Given the description of an element on the screen output the (x, y) to click on. 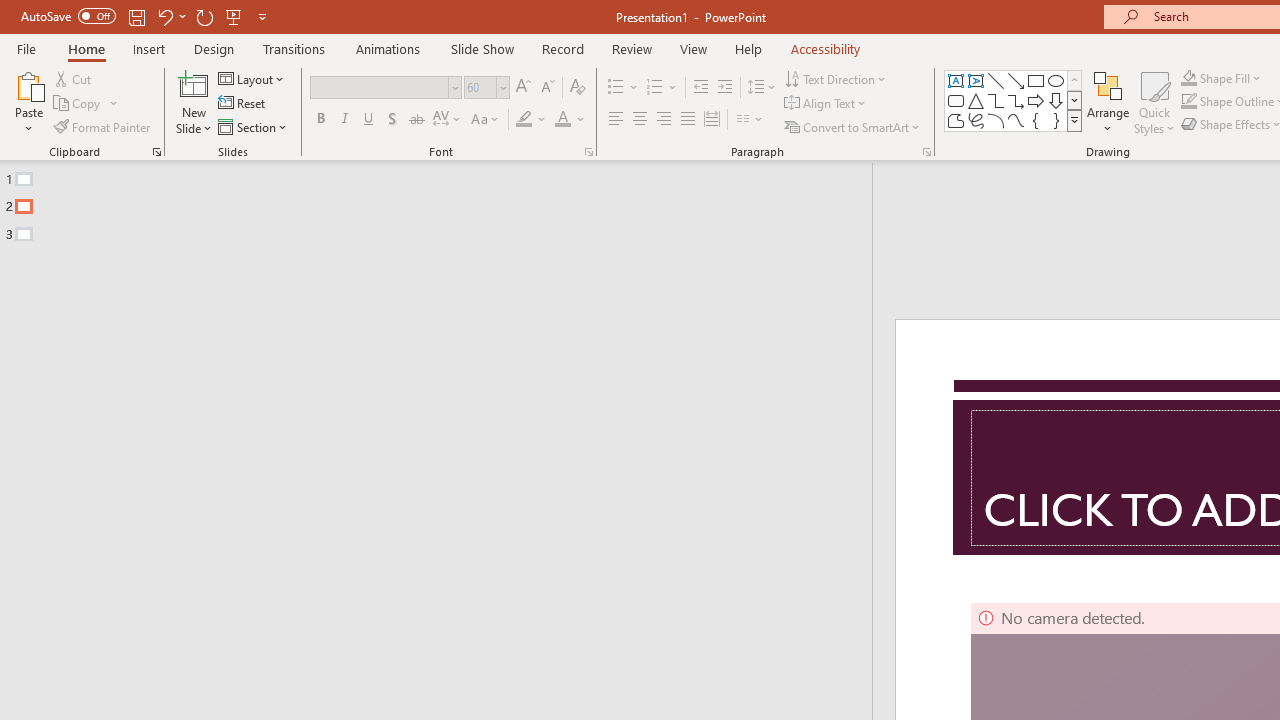
Shape Fill Orange, Accent 2 (1188, 78)
